Given the description of an element on the screen output the (x, y) to click on. 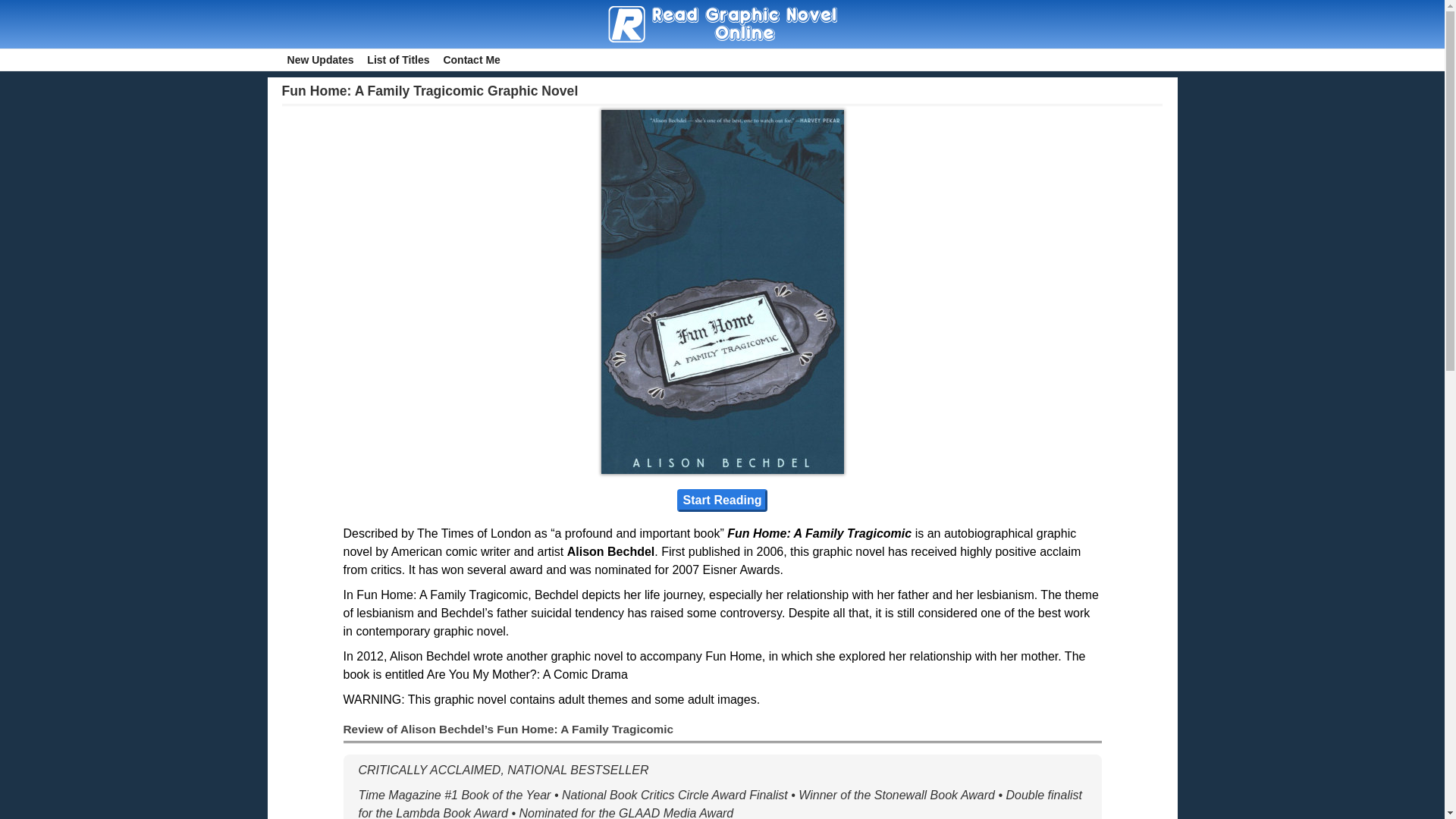
Contact Me (471, 59)
Fun Home: A Family Tragicomic Graphic Novel (430, 90)
Start Reading (722, 499)
List of Titles (397, 59)
READ GRAPHIC NOVEL ONLINE (460, 59)
New Updates (320, 59)
